Given the description of an element on the screen output the (x, y) to click on. 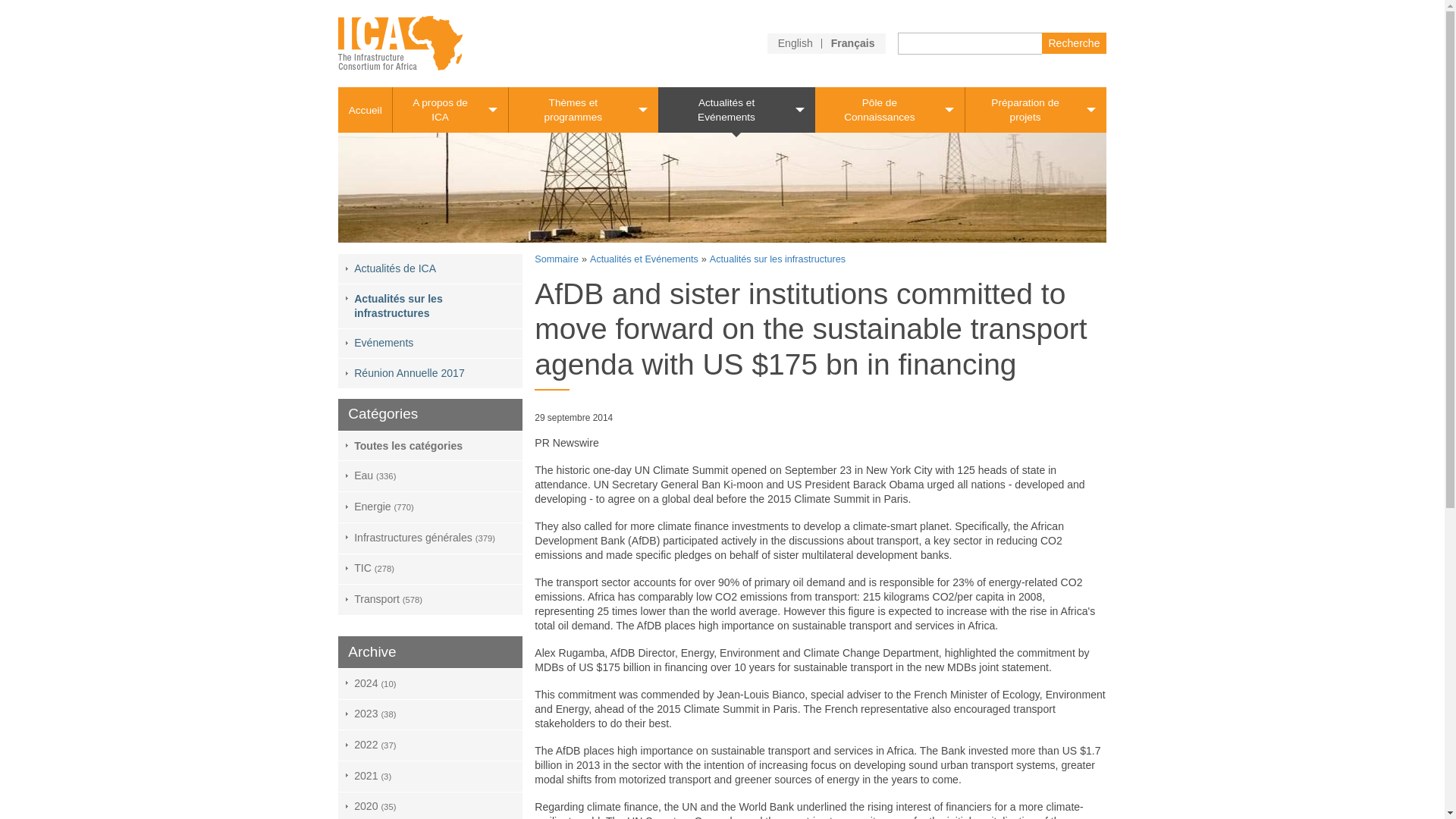
Recherche (1074, 42)
A propos de ICA (450, 109)
Recherche (1074, 42)
English (794, 43)
Accueil (364, 110)
Article (794, 43)
Article (853, 43)
Accueil (364, 110)
A propos de ICA (450, 109)
ICA - Le Consortium pour les Infrastructures en Afrique (400, 43)
